Given the description of an element on the screen output the (x, y) to click on. 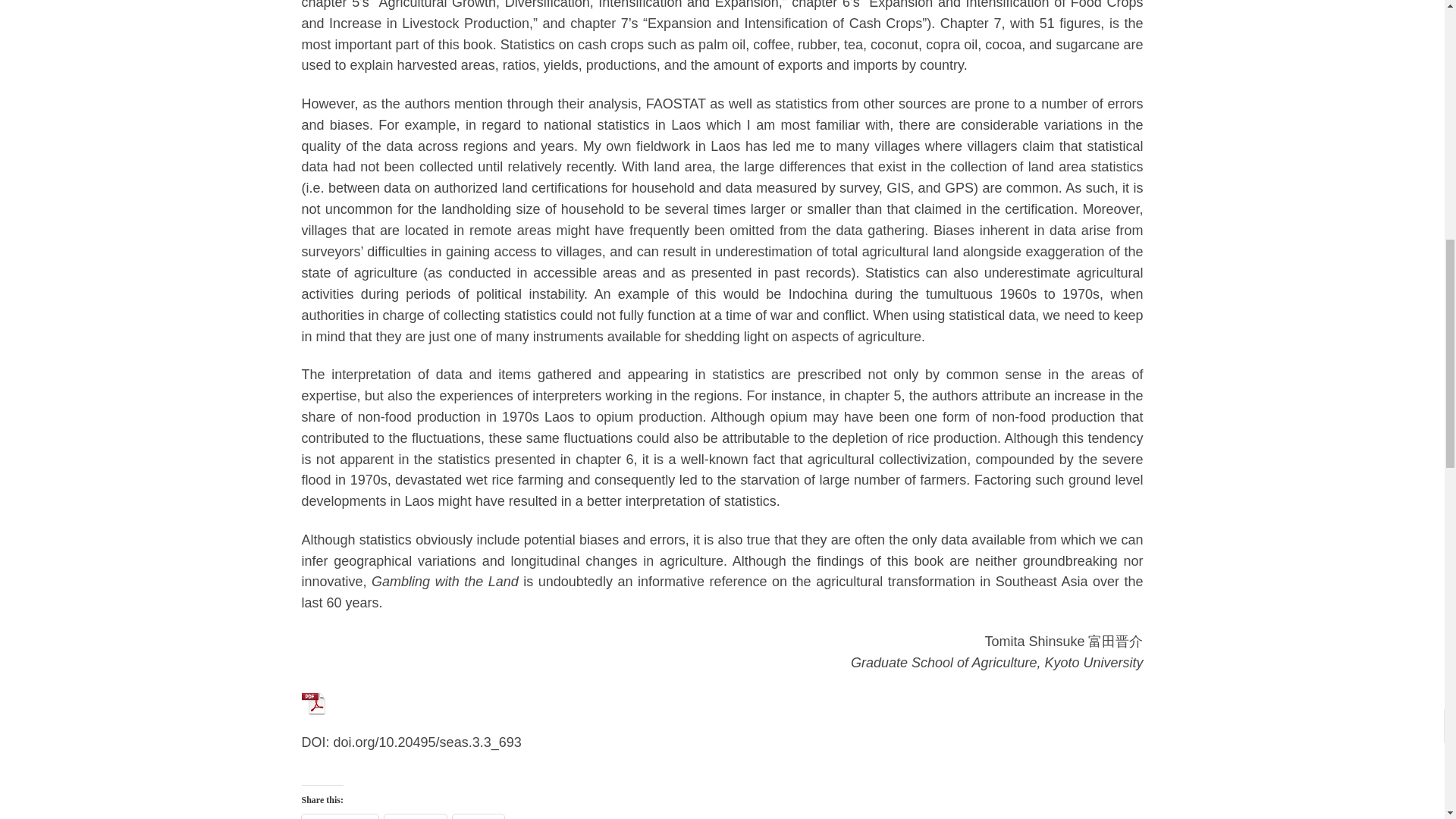
Click to share on Twitter (415, 816)
Click to share on LINE (477, 816)
Click to share on Facebook (339, 816)
